Given the description of an element on the screen output the (x, y) to click on. 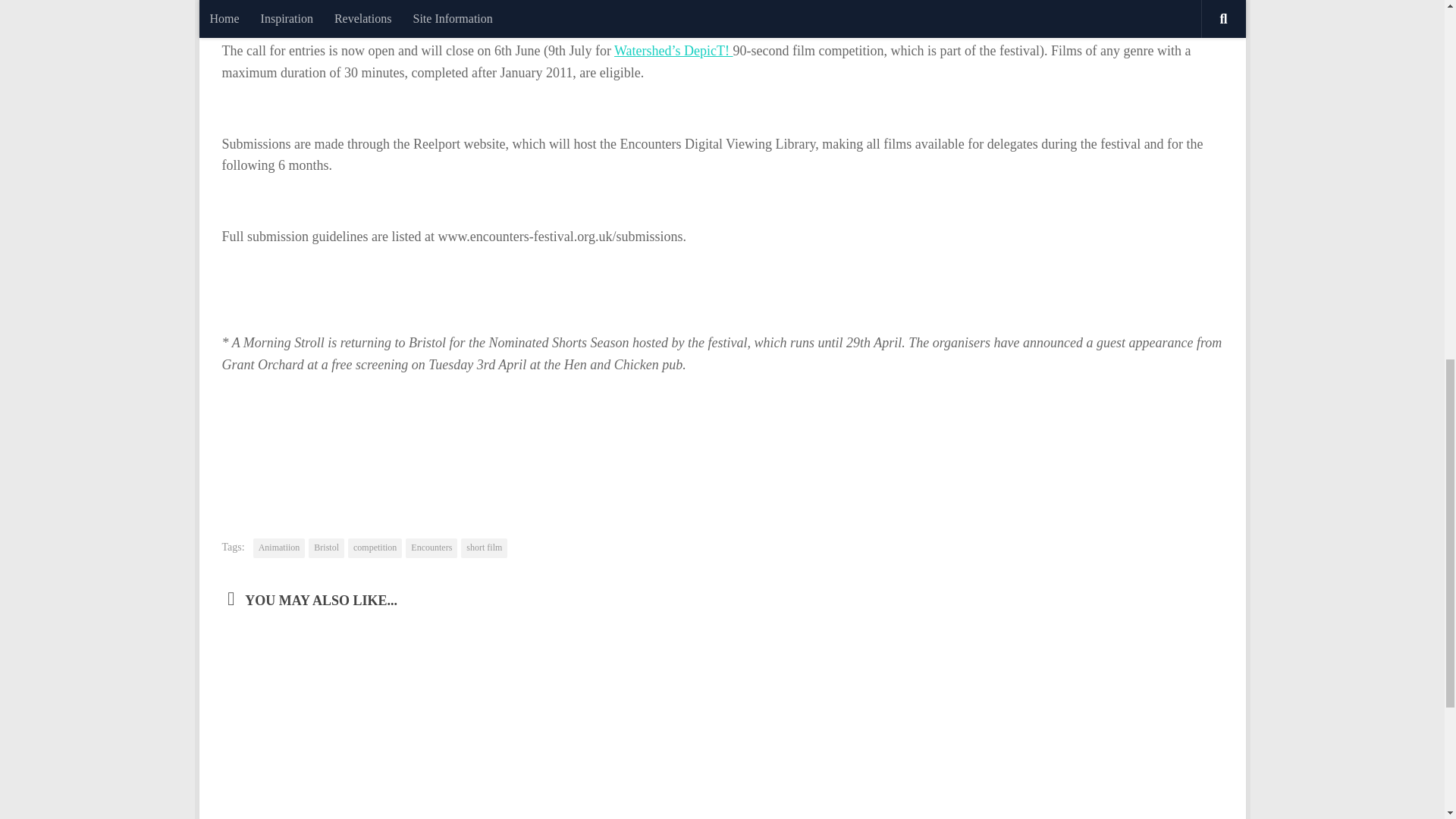
competition (374, 547)
Bristol (325, 547)
short film (483, 547)
Encounters (431, 547)
Animatiion (279, 547)
